Given the description of an element on the screen output the (x, y) to click on. 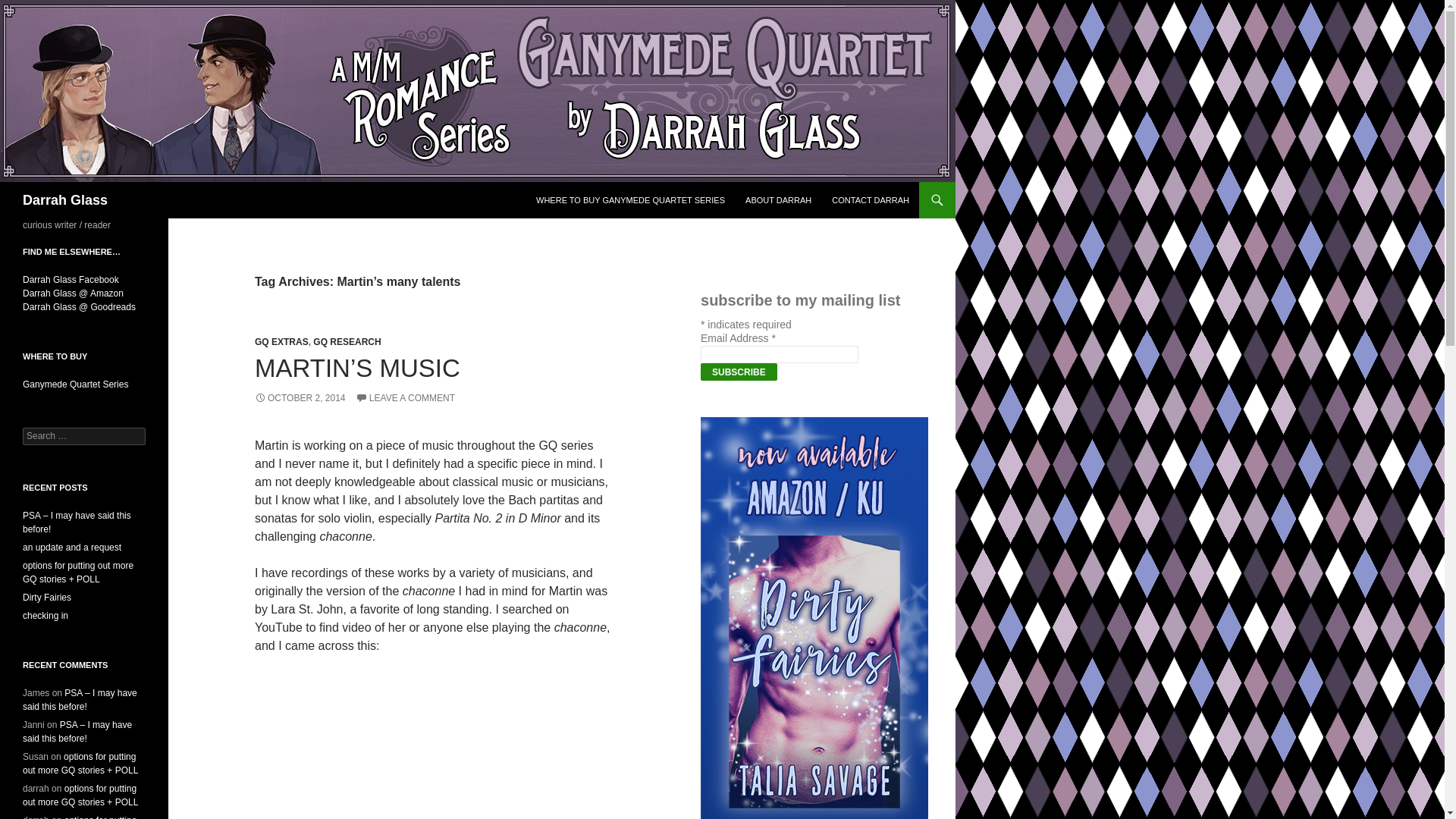
WHERE TO BUY GANYMEDE QUARTET SERIES (630, 199)
Subscribe (738, 371)
CONTACT DARRAH (870, 199)
Subscribe (738, 371)
Darrah Glass (65, 199)
GQ EXTRAS (281, 341)
ABOUT DARRAH (778, 199)
LEAVE A COMMENT (404, 398)
GQ RESEARCH (346, 341)
OCTOBER 2, 2014 (300, 398)
